Given the description of an element on the screen output the (x, y) to click on. 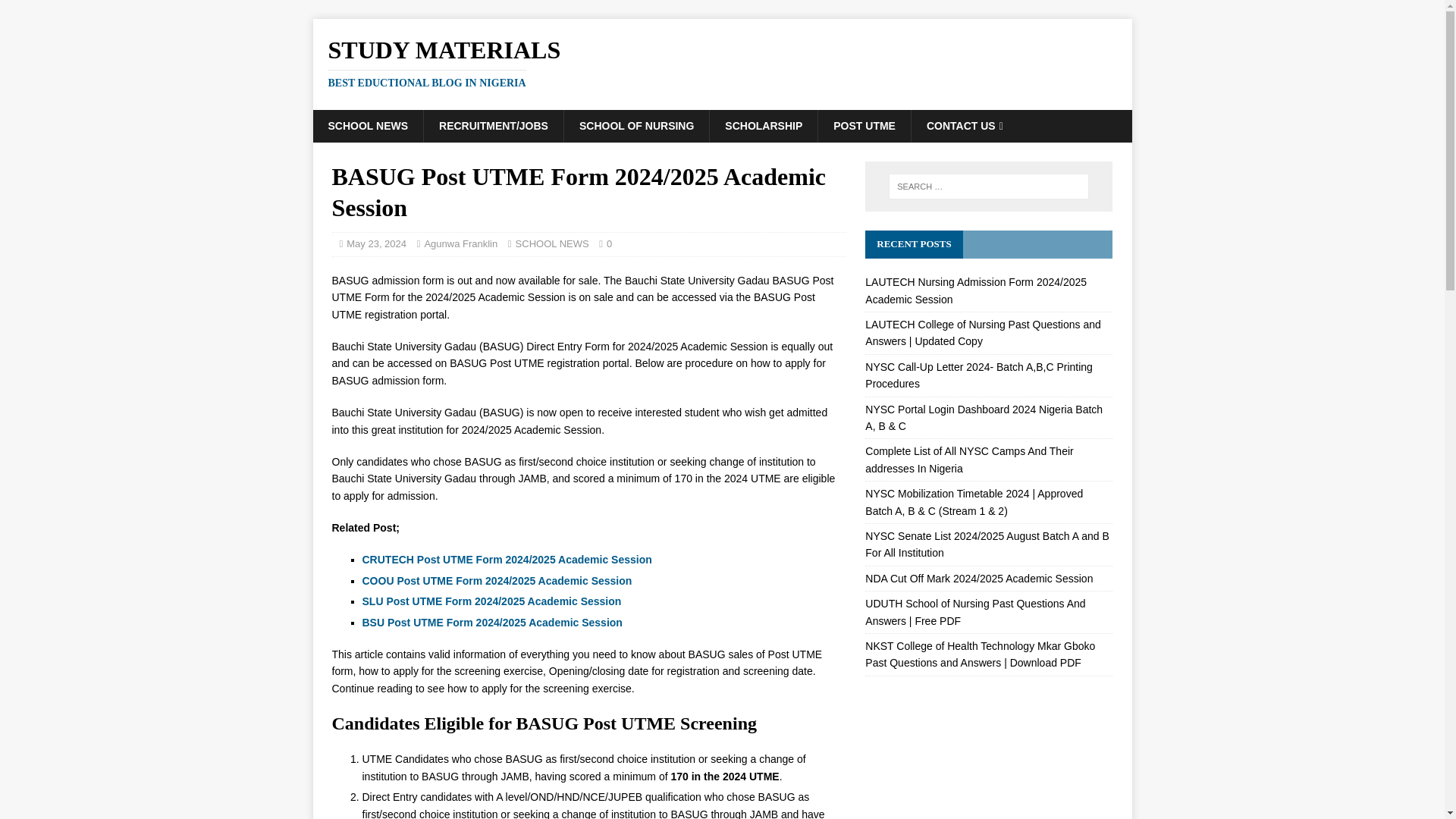
May 23, 2024 (376, 243)
POST UTME (863, 125)
Search (56, 11)
NYSC Call-Up Letter 2024- Batch A,B,C Printing Procedures (978, 375)
CONTACT US (964, 125)
SCHOOL NEWS (552, 243)
SCHOOL OF NURSING (636, 125)
SCHOLARSHIP (721, 62)
